Given the description of an element on the screen output the (x, y) to click on. 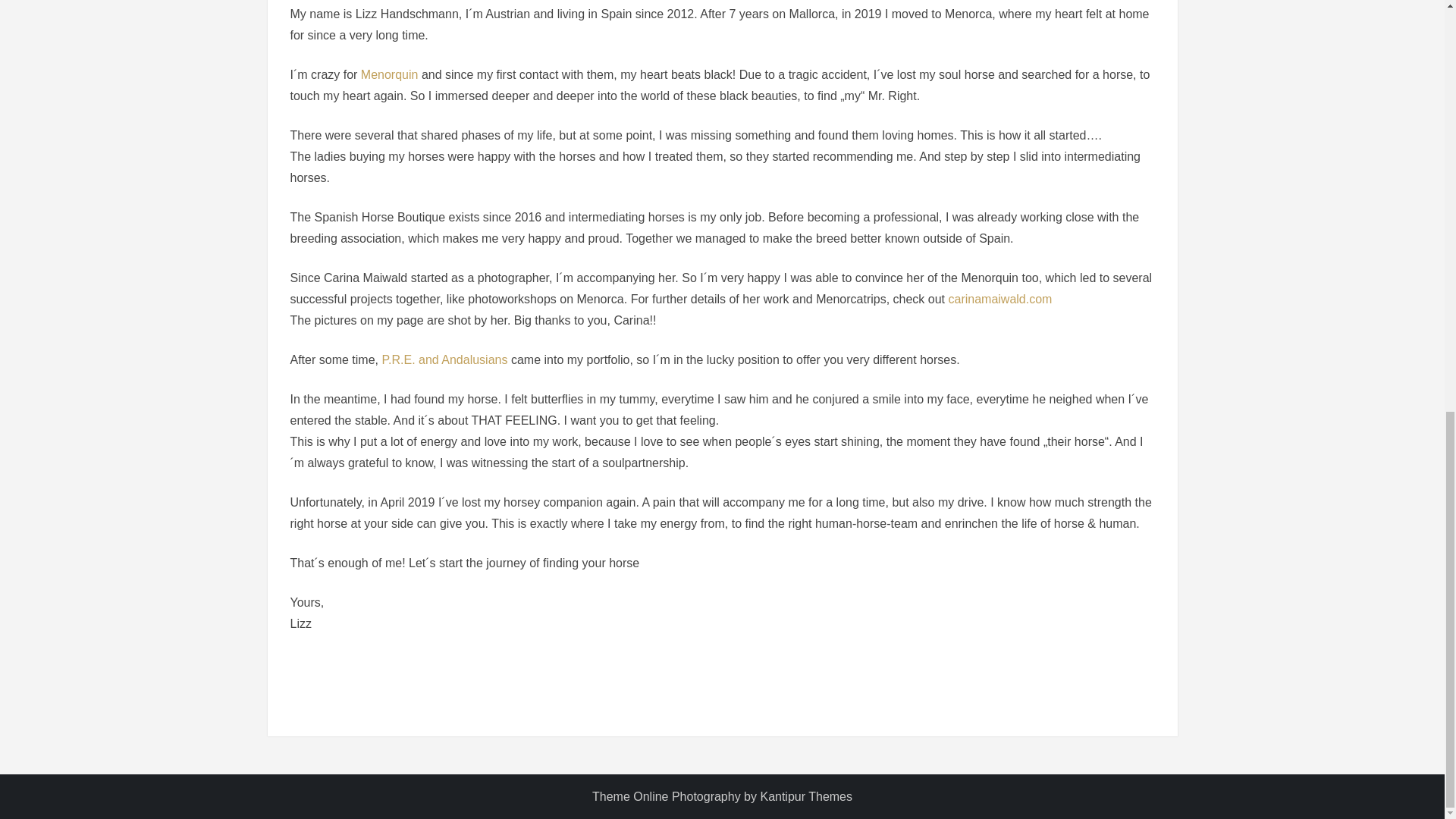
Kantipur Themes (805, 796)
carinamaiwald.com (999, 298)
P.R.E. and Andalusians (443, 359)
Menorquin (390, 74)
